Given the description of an element on the screen output the (x, y) to click on. 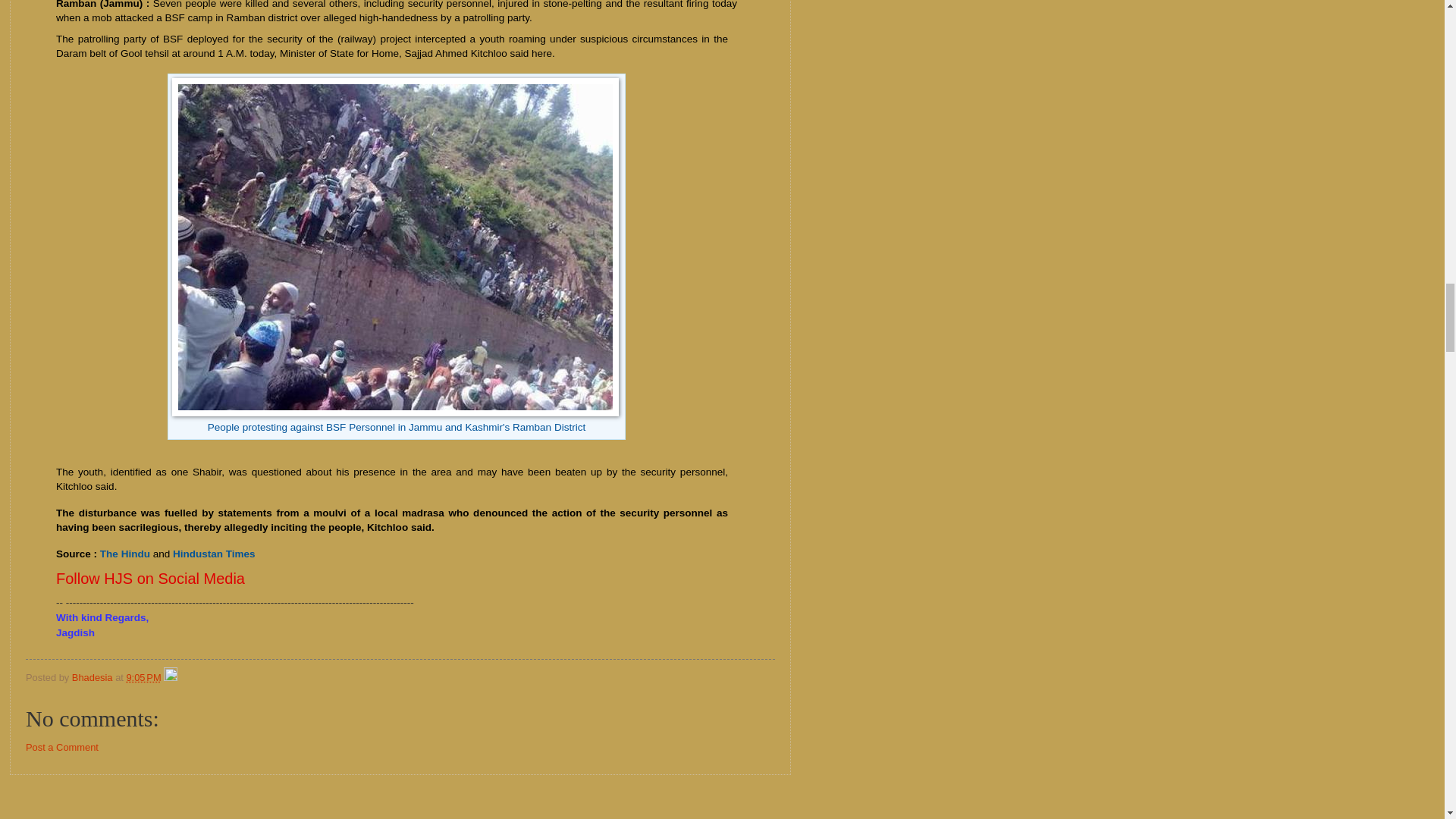
Edit Post (170, 677)
The Hindu (124, 553)
Post a Comment (62, 747)
Hindustan Times (214, 553)
author profile (93, 677)
permanent link (142, 677)
Bhadesia (93, 677)
